Given the description of an element on the screen output the (x, y) to click on. 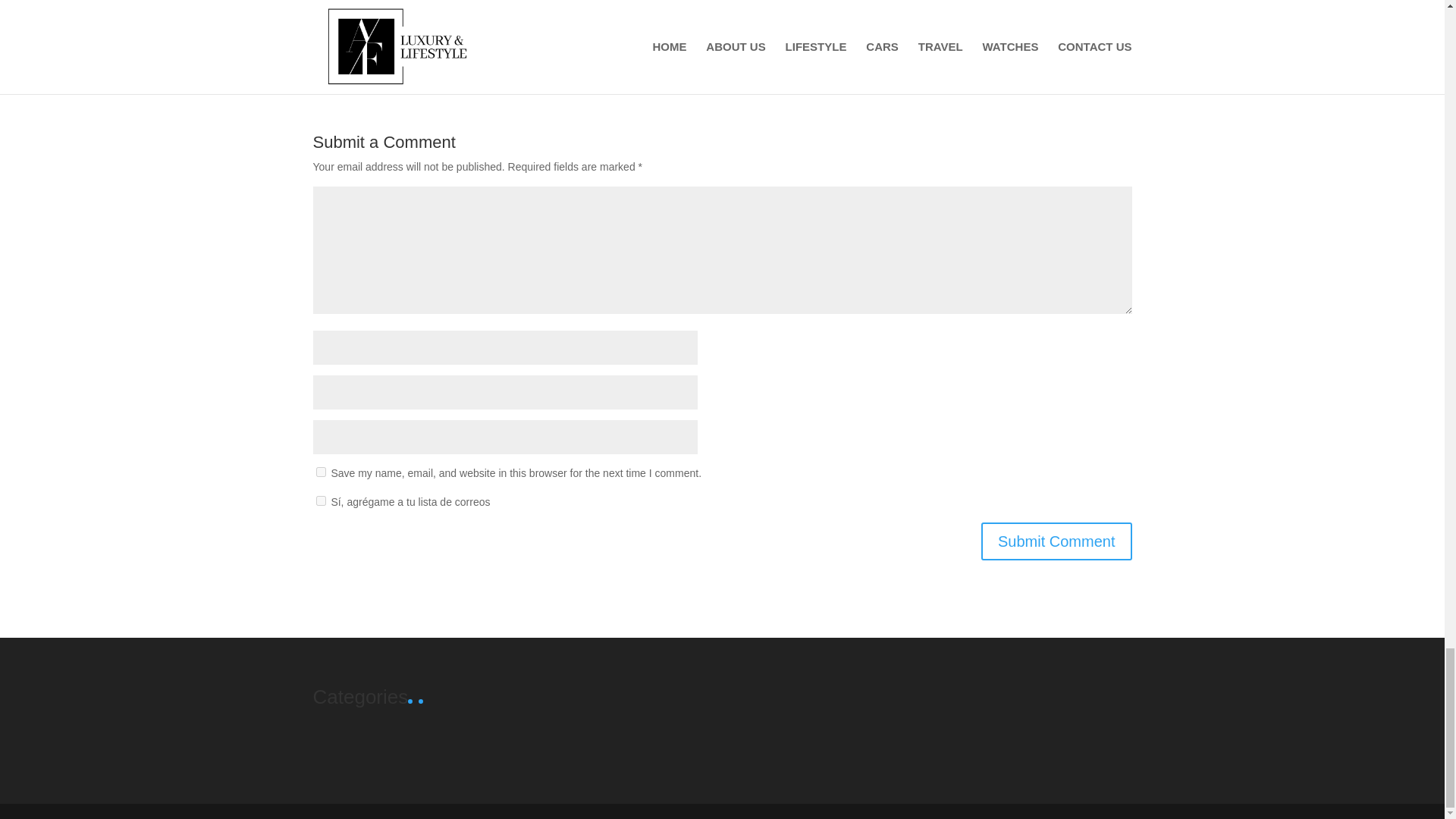
Submit Comment (1056, 541)
Submit Comment (1056, 541)
1 (319, 501)
yes (319, 471)
